Given the description of an element on the screen output the (x, y) to click on. 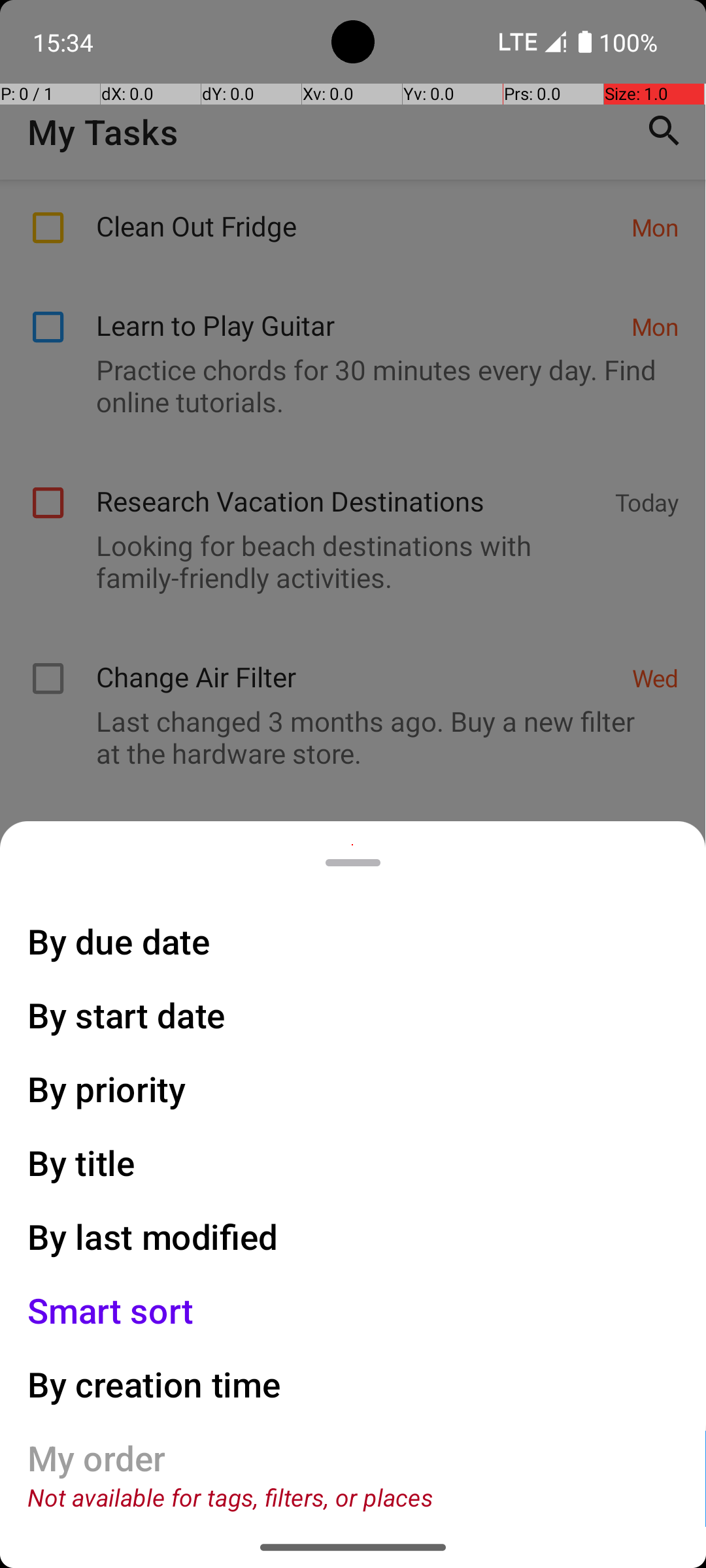
By due date Element type: android.widget.TextView (119, 940)
By start date Element type: android.widget.TextView (126, 1014)
By priority Element type: android.widget.TextView (106, 1088)
By title Element type: android.widget.TextView (81, 1162)
By last modified Element type: android.widget.TextView (152, 1236)
Smart sort Element type: android.widget.TextView (110, 1310)
By creation time Element type: android.widget.TextView (154, 1383)
My order Element type: android.widget.TextView (96, 1457)
Not available for tags, filters, or places Element type: android.widget.TextView (230, 1497)
